Given the description of an element on the screen output the (x, y) to click on. 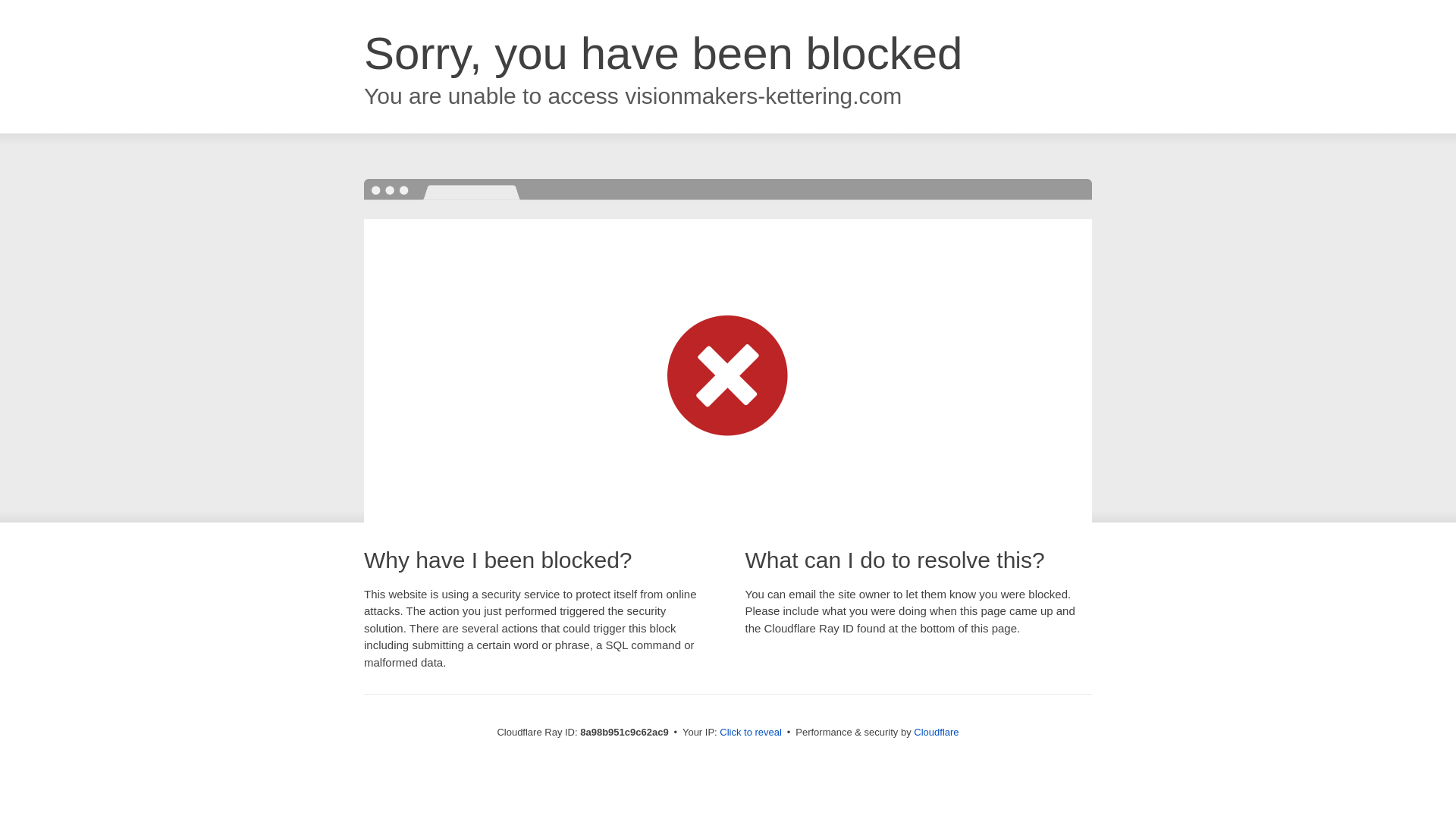
Click to reveal (750, 732)
Cloudflare (936, 731)
